Given the description of an element on the screen output the (x, y) to click on. 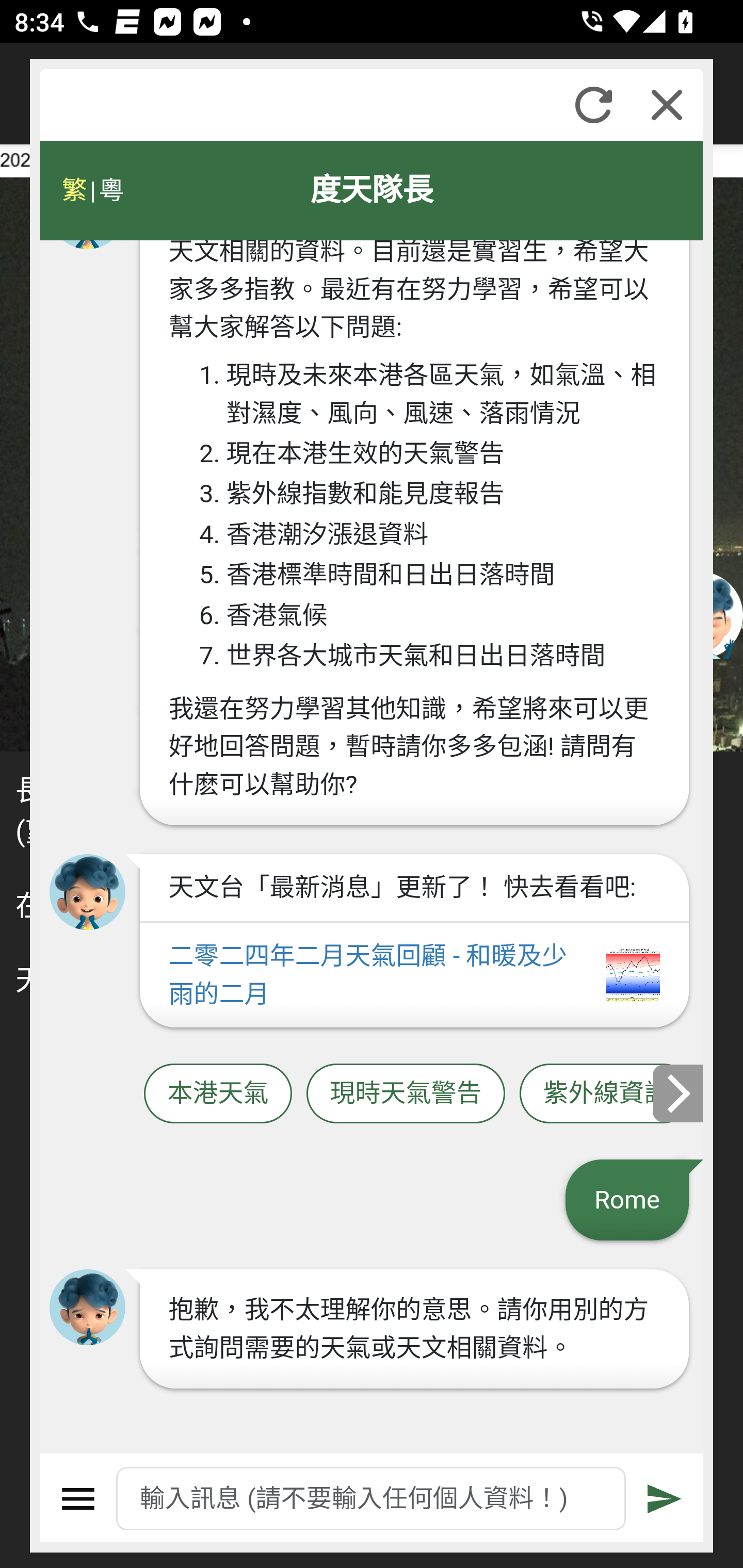
重新整理 (593, 104)
關閉 (666, 104)
繁 (73, 190)
粵 (110, 190)
二零二四年二月天氣回顧 - 和暖及少雨的二月 (413, 974)
本港天氣 (217, 1093)
現時天氣警告 (405, 1093)
紫外線資訊 (605, 1093)
下一張 (678, 1092)
選單 (78, 1498)
遞交 (665, 1498)
